Given the description of an element on the screen output the (x, y) to click on. 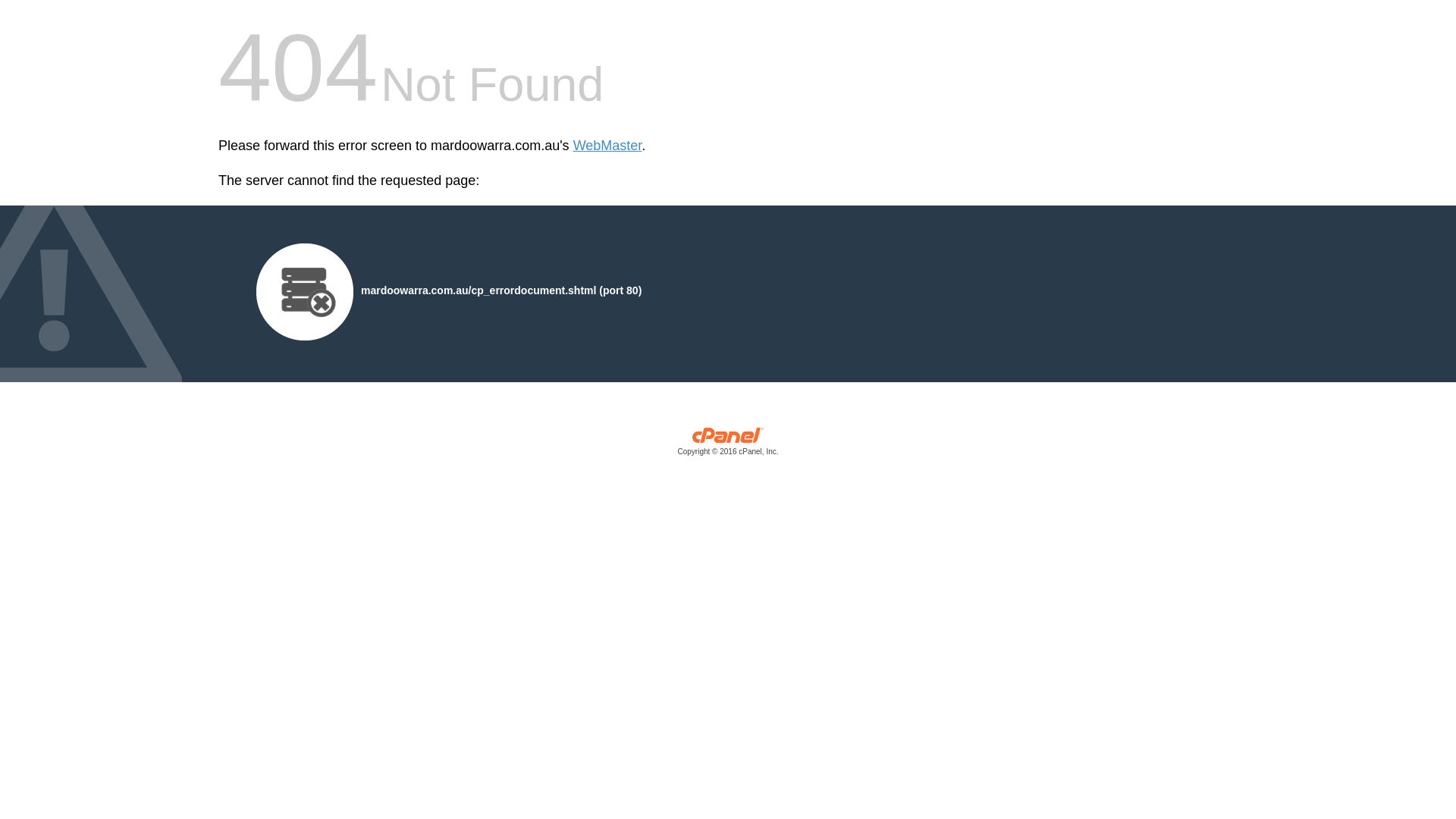
WebMaster Element type: text (607, 145)
